Given the description of an element on the screen output the (x, y) to click on. 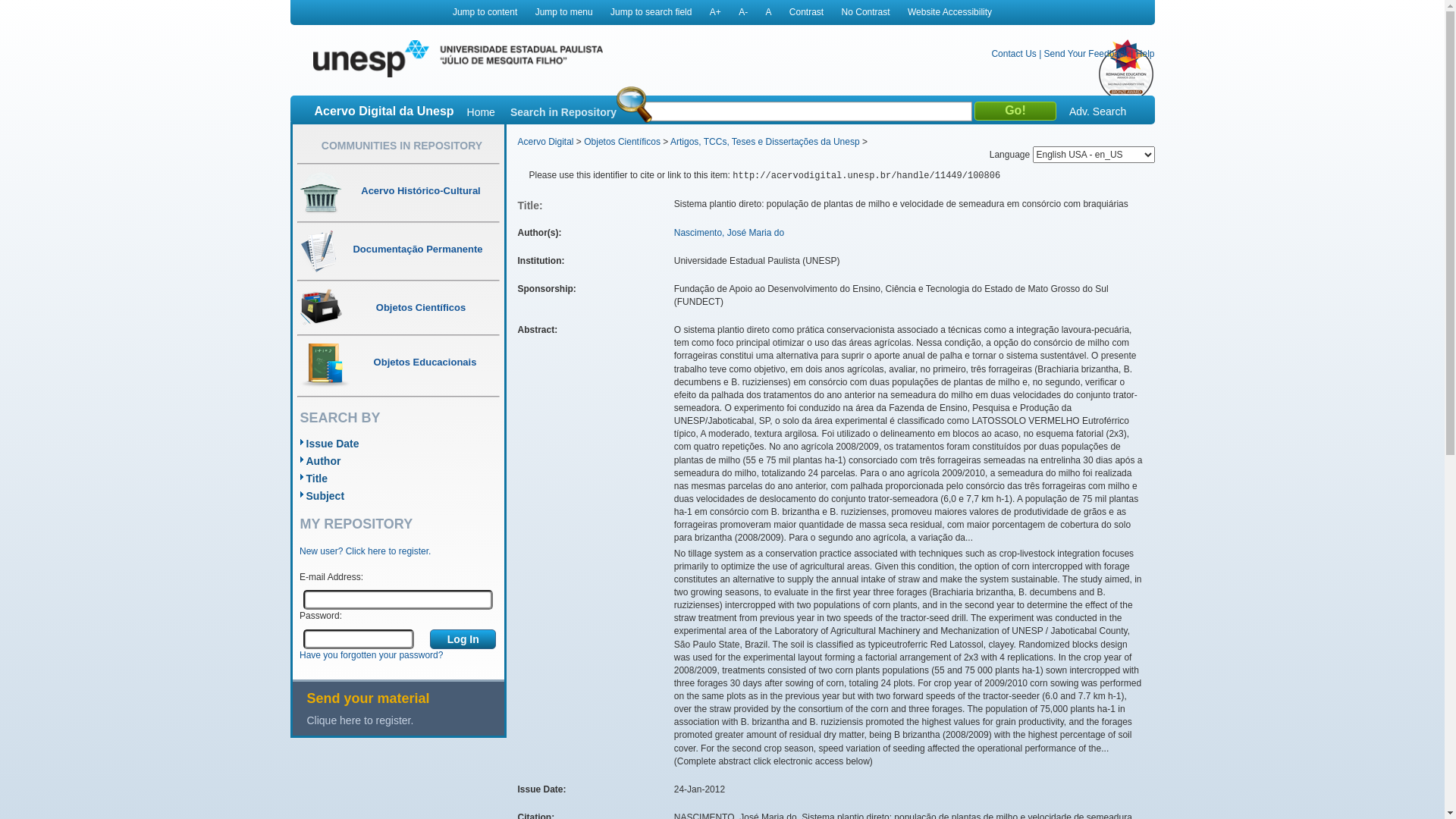
No Contrast Element type: text (865, 11)
Clique here to register. Element type: text (404, 720)
Send Your Feedback Element type: text (1086, 53)
Issue Date Element type: text (332, 443)
Website Accessibility Element type: text (949, 11)
Have you forgotten your password? Element type: text (370, 654)
Contact Us Element type: text (1013, 53)
Contrast Element type: text (806, 11)
Go! Element type: text (1015, 110)
Jump to content Element type: text (484, 11)
New user? Click here to register. Element type: text (364, 551)
Acervo Digital Element type: text (545, 141)
A Element type: text (768, 11)
A+ Element type: text (715, 11)
Adv. Search Element type: text (1097, 111)
Title Element type: text (317, 478)
Jump to menu Element type: text (564, 11)
Help Element type: text (1144, 53)
A- Element type: text (742, 11)
Author Element type: text (323, 461)
COMMUNITIES IN REPOSITORY Element type: text (401, 145)
Home Element type: text (481, 111)
Jump to search field Element type: text (650, 11)
Log In Element type: text (462, 639)
Subject Element type: text (325, 495)
